Given the description of an element on the screen output the (x, y) to click on. 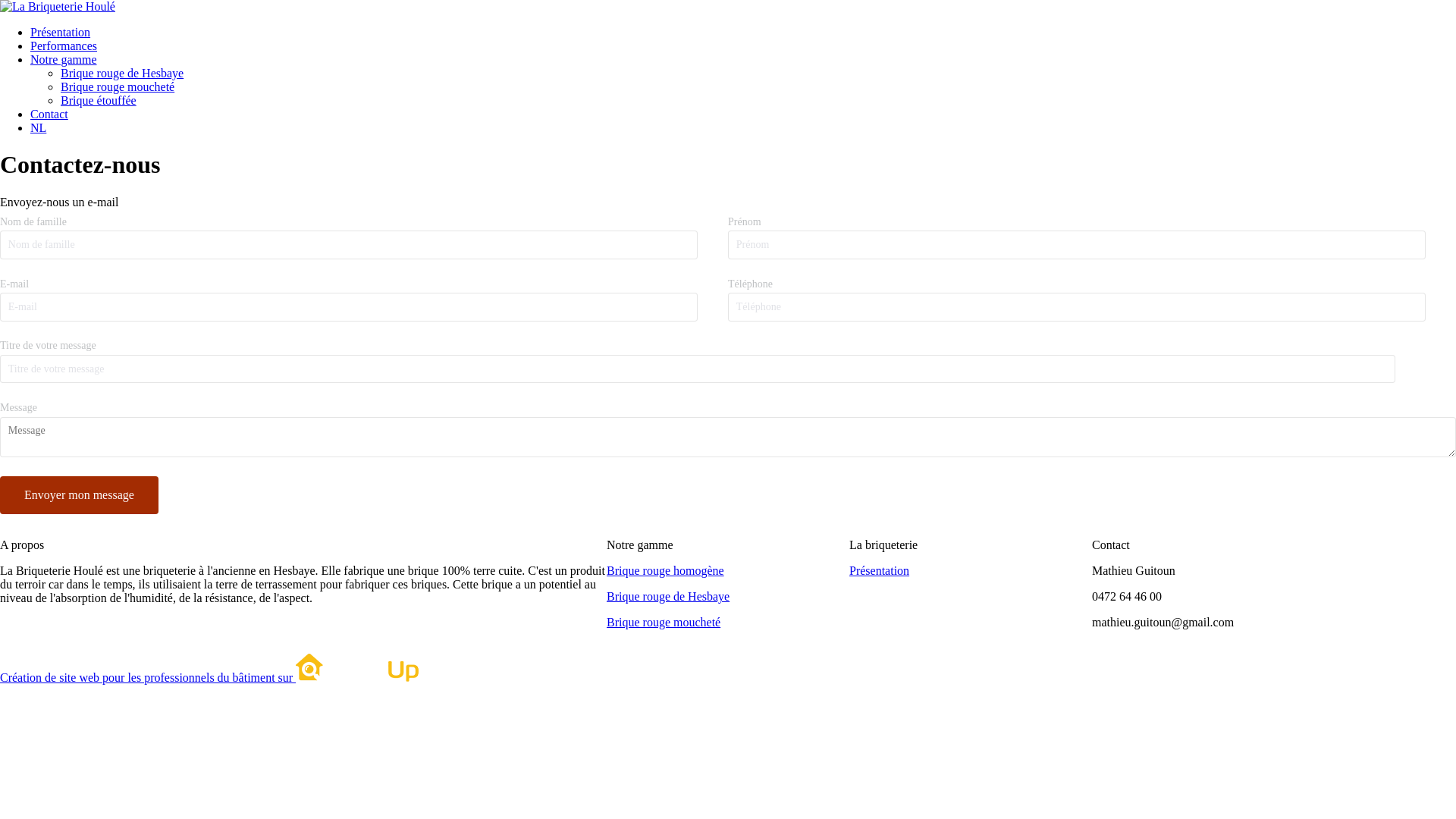
Contact Element type: text (49, 113)
Brique rouge de Hesbaye Element type: text (121, 72)
Envoyer mon message Element type: text (79, 495)
NL Element type: text (38, 127)
Notre gamme Element type: text (63, 59)
Performances Element type: text (63, 45)
Brique rouge de Hesbaye Element type: text (667, 595)
